Given the description of an element on the screen output the (x, y) to click on. 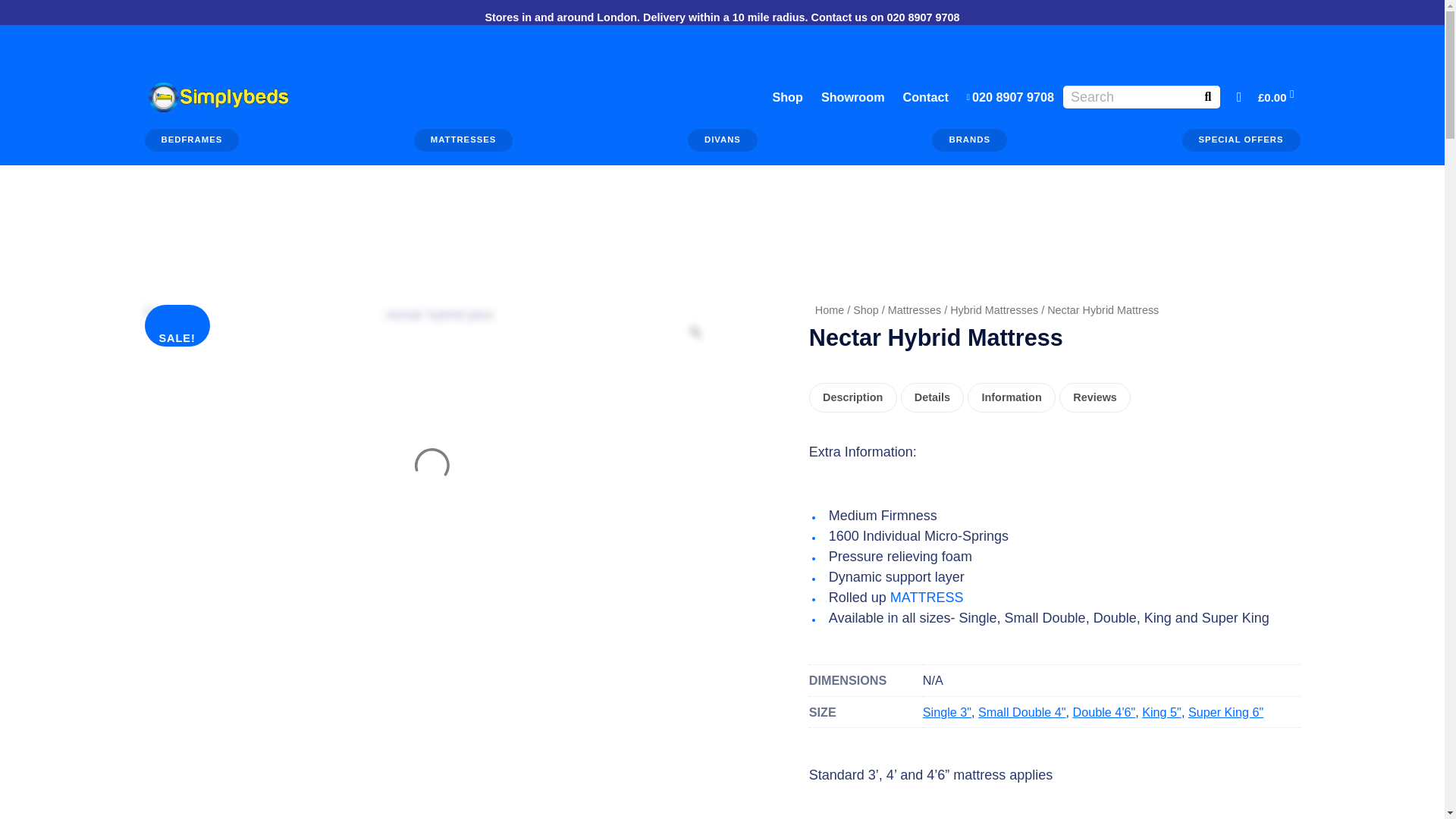
Showroom (852, 96)
Contact (925, 96)
BEDFRAMES (191, 139)
Shop (786, 96)
020 8907 9708 (1010, 96)
